Given the description of an element on the screen output the (x, y) to click on. 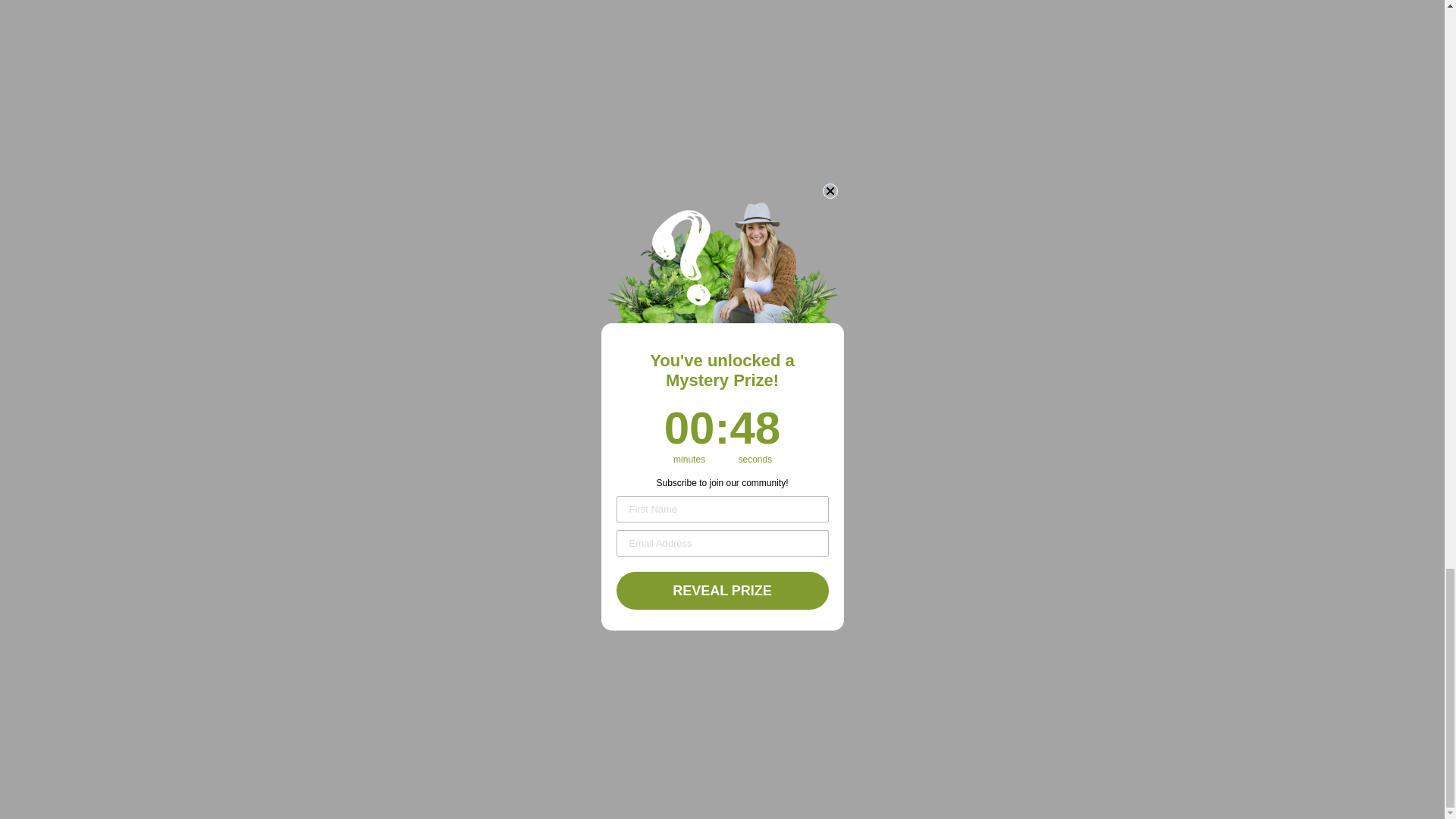
Tweed Real Food on Pinterest (1123, 683)
Tweed Real Food on YouTube (1093, 683)
Tweed Real Food on TikTok (1152, 683)
Tweed Real Food on Facebook (1064, 683)
Tweed Real Food on Instagram (1034, 683)
